Given the description of an element on the screen output the (x, y) to click on. 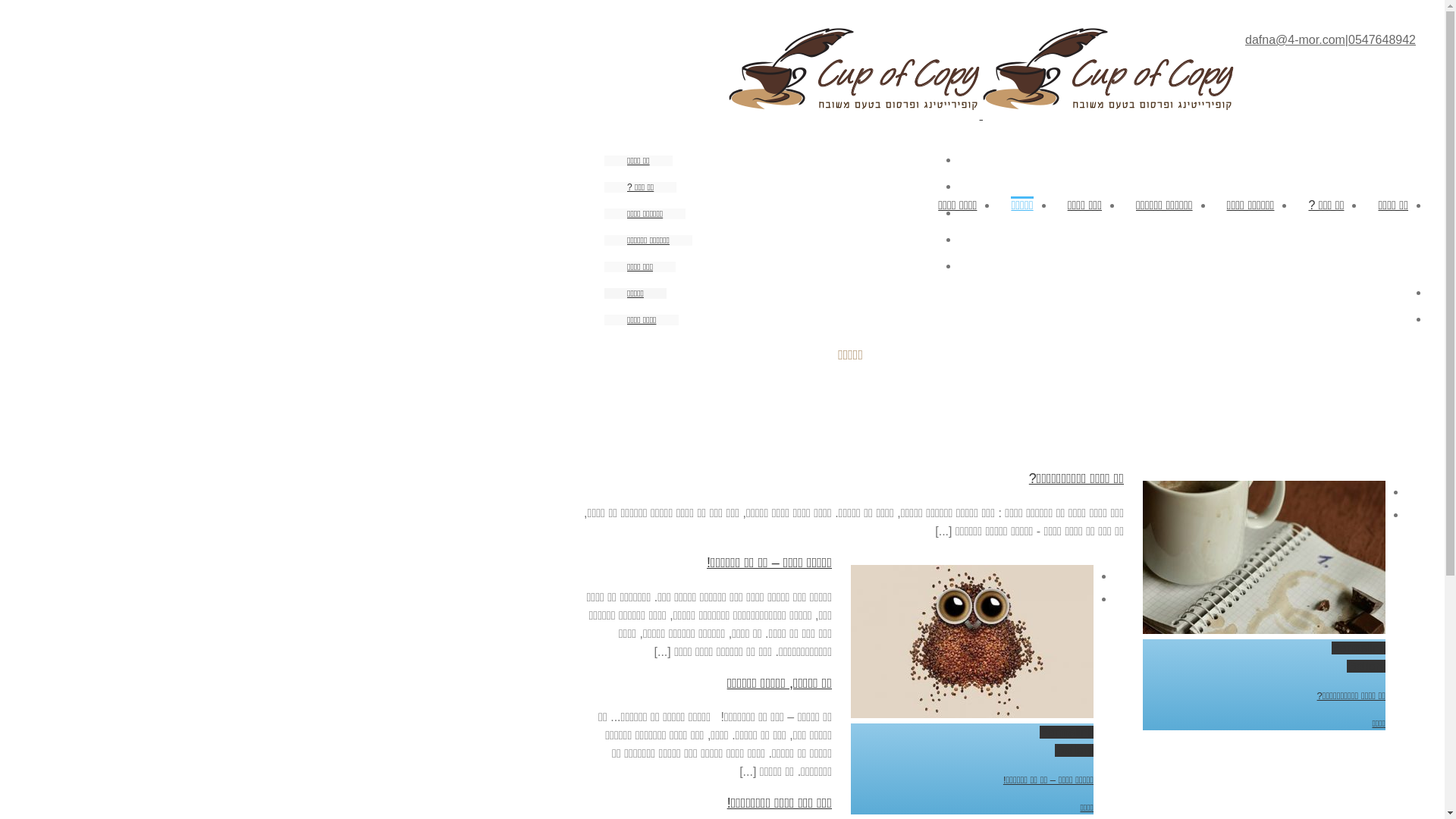
0547648942 Element type: text (1381, 39)
dafna@4-mor.com Element type: text (1295, 39)
Permalink Element type: text (1066, 731)
Permalink Element type: text (1358, 647)
Gallery Element type: text (1073, 749)
Gallery Element type: text (1365, 665)
